Given the description of an element on the screen output the (x, y) to click on. 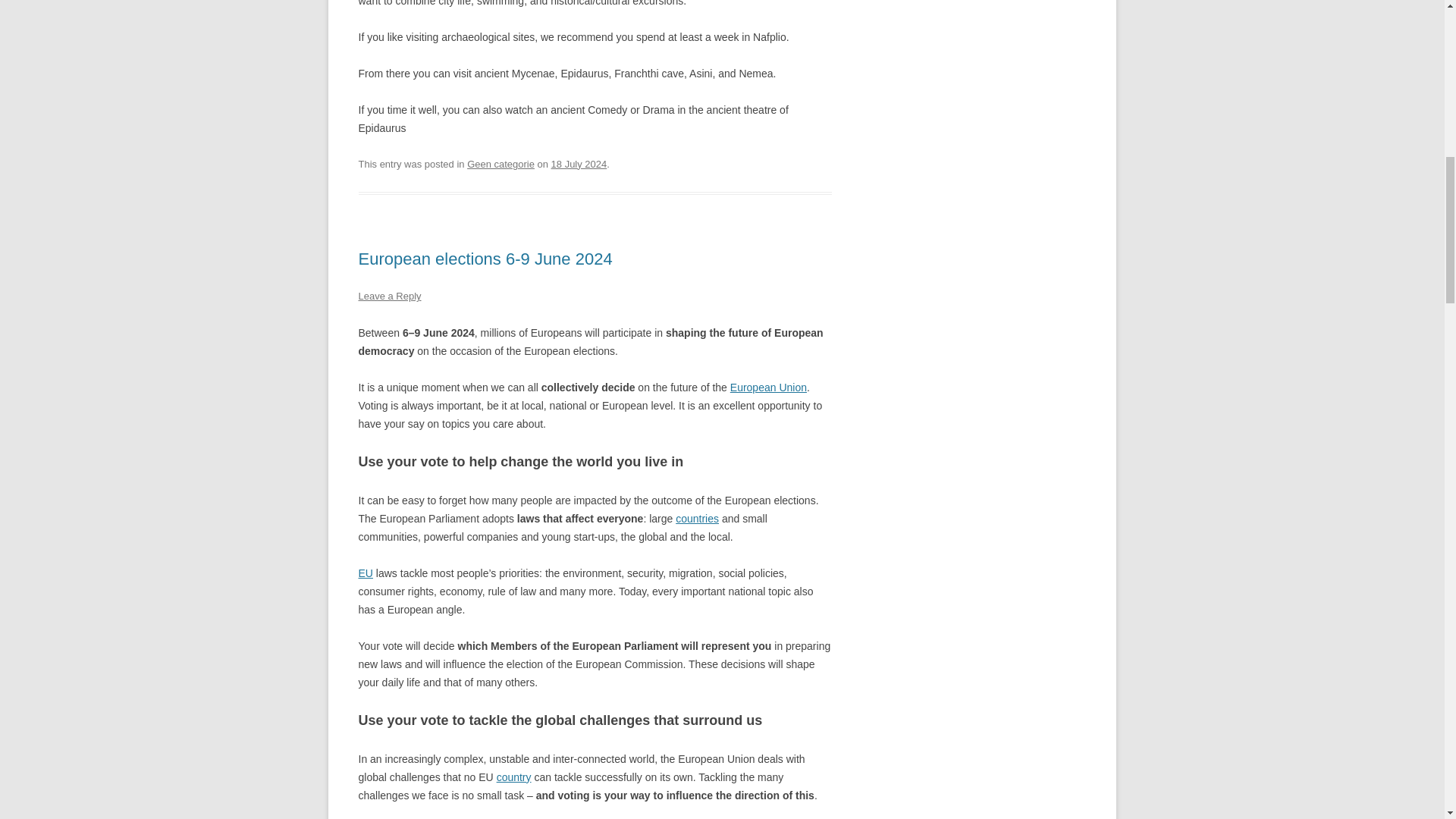
European elections 6-9 June 2024 (484, 258)
countries (697, 518)
15:05 (579, 163)
18 July 2024 (579, 163)
country (513, 776)
EU (365, 573)
Geen categorie (500, 163)
Leave a Reply (389, 296)
European Union (768, 387)
